Given the description of an element on the screen output the (x, y) to click on. 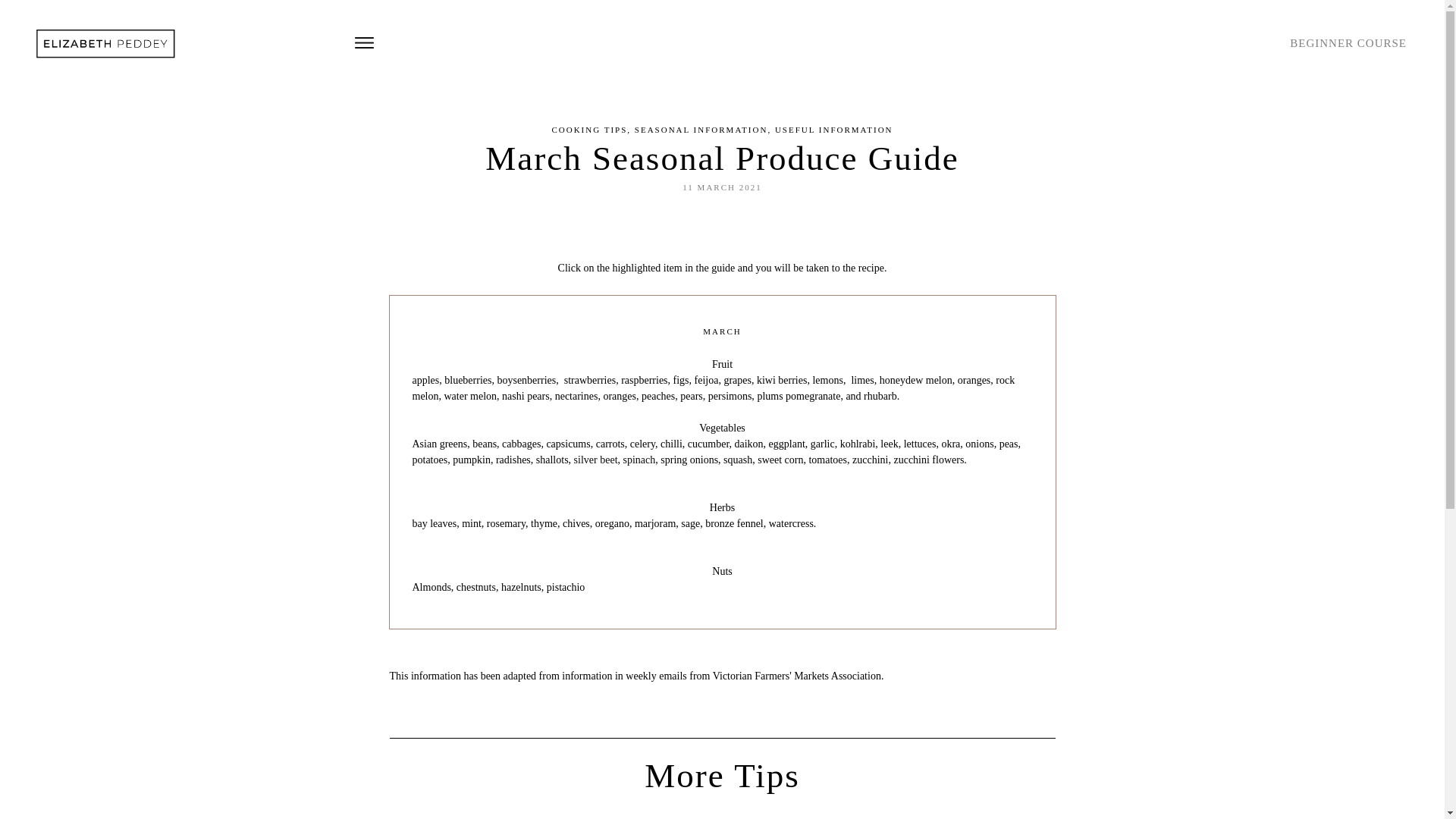
eggplant, Element type: text (788, 443)
 plums Element type: text (768, 395)
zucchini, Element type: text (871, 459)
silver beet Element type: text (596, 459)
lemons, Element type: text (828, 379)
apples, Element type: text (427, 379)
Logo Element type: hover (107, 42)
pears, Element type: text (692, 395)
potatoes, Element type: text (431, 459)
tomatoes, Element type: text (828, 459)
spinach Element type: text (639, 459)
